Given the description of an element on the screen output the (x, y) to click on. 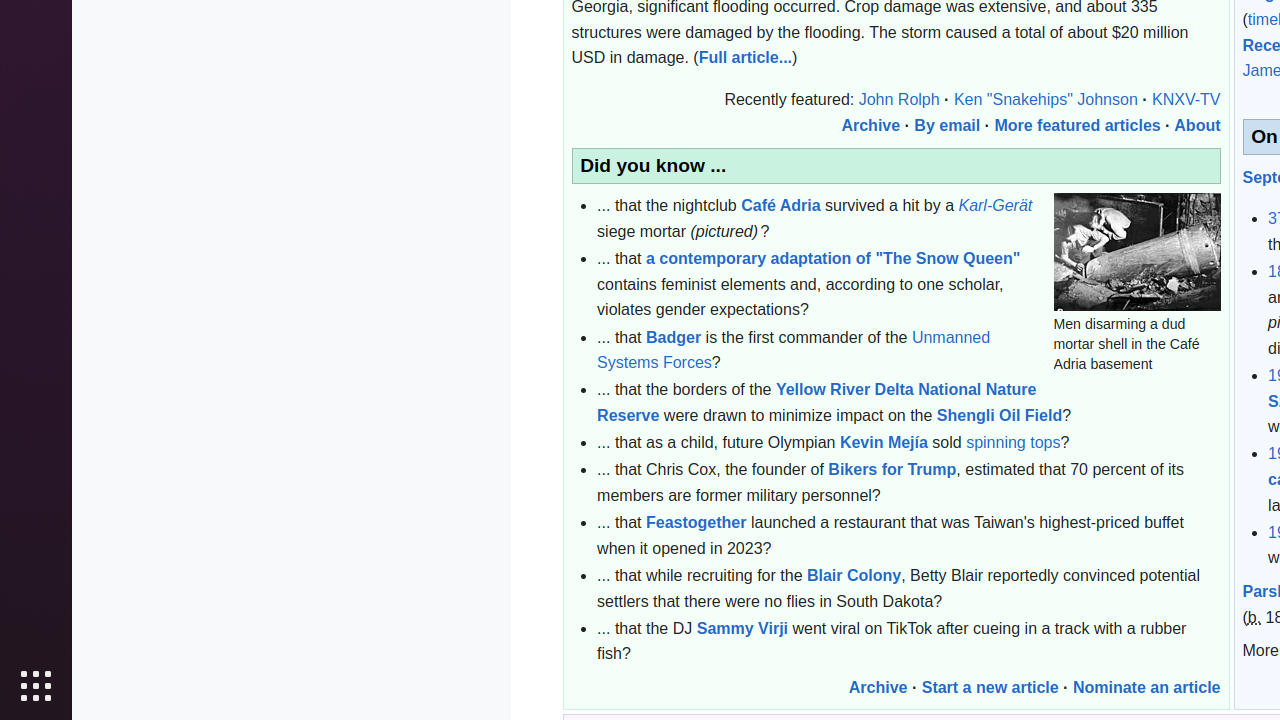
Unmanned Systems Forces Element type: link (794, 350)
a contemporary adaptation of "The Snow Queen" Element type: link (833, 259)
Ken "Snakehips" Johnson Element type: link (1045, 99)
KNXV-TV Element type: link (1186, 99)
spinning tops Element type: link (1013, 443)
